Given the description of an element on the screen output the (x, y) to click on. 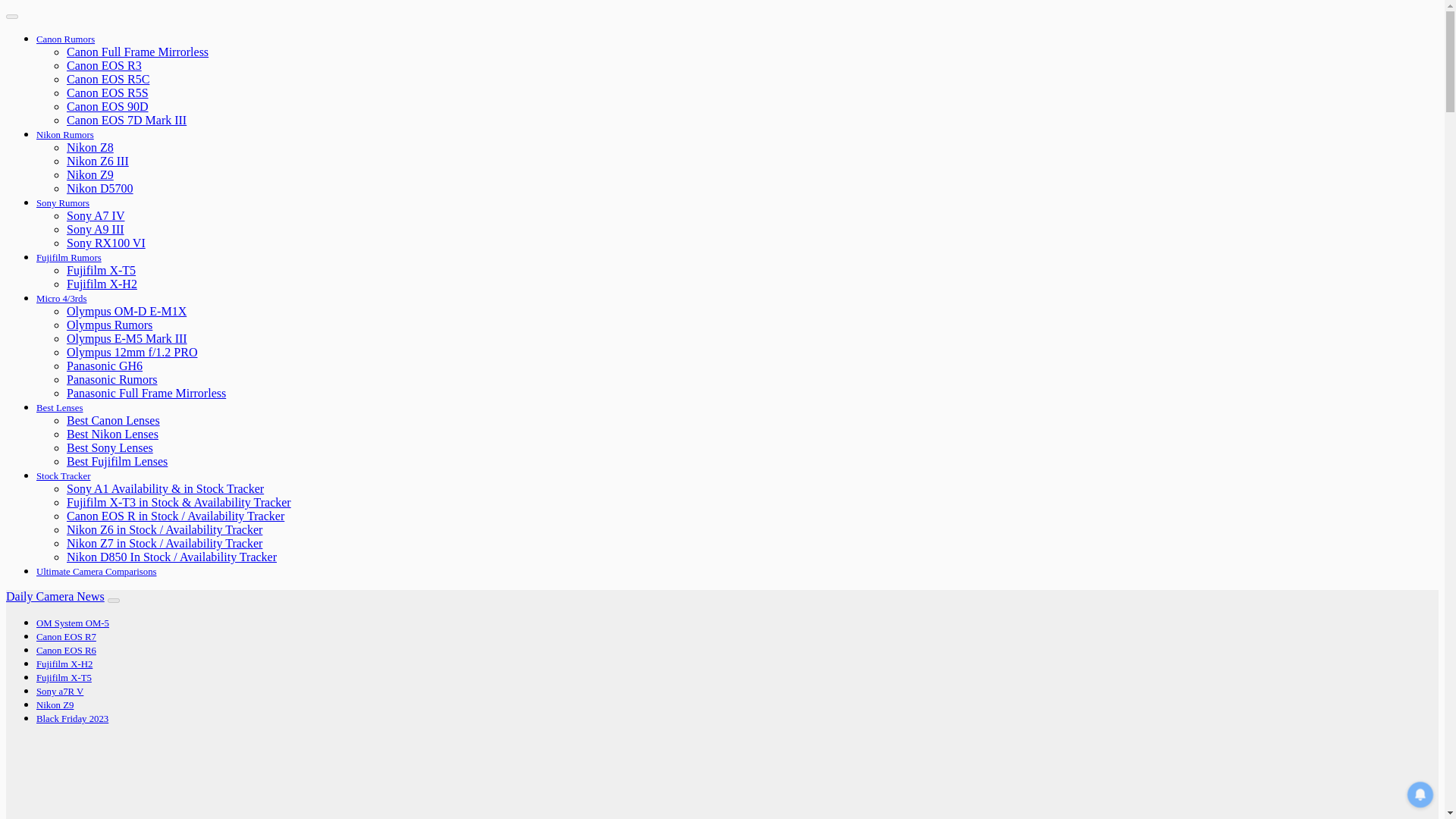
Best Sony Lenses (109, 447)
Nikon Z6 III (97, 160)
Nikon Z8 (89, 146)
Canon EOS 90D (107, 106)
Sony A9 III (94, 228)
Fujifilm X-T5 (100, 269)
Canon EOS R5C (107, 78)
Fujifilm Rumors (68, 257)
Olympus OM-D E-M1X (126, 310)
Nikon Rumors (65, 134)
Panasonic Rumors (111, 379)
Sony RX100 VI (105, 242)
Fujifilm X-H2 (101, 283)
Canon EOS R5C (107, 78)
Fujifilm Rumors (68, 257)
